Given the description of an element on the screen output the (x, y) to click on. 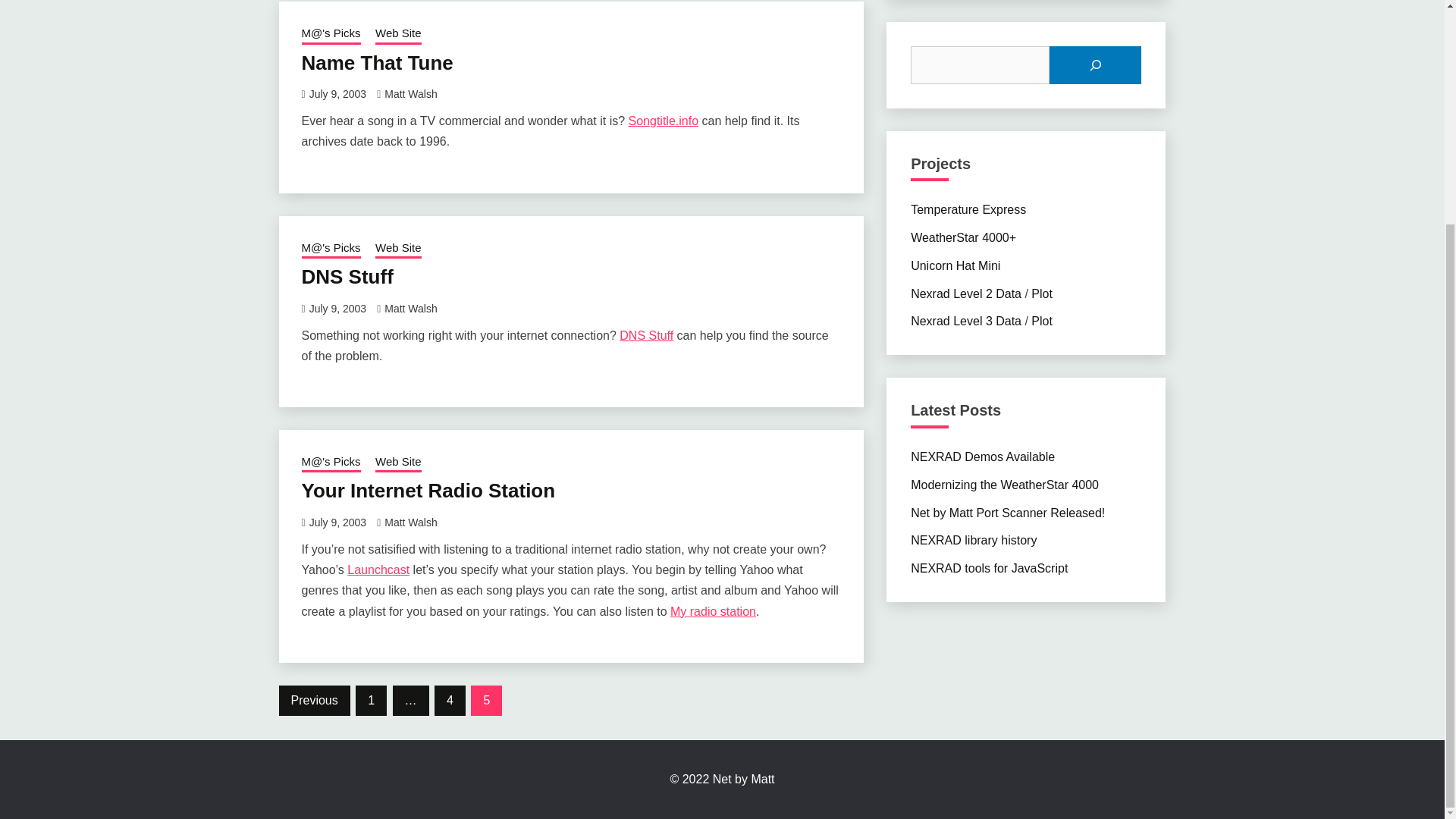
Matt Walsh (411, 308)
Your Internet Radio Station (428, 490)
July 9, 2003 (337, 308)
DNS Stuff (646, 335)
Previous (314, 700)
Web Site (398, 35)
DNS Stuff (347, 276)
July 9, 2003 (337, 93)
Matt Walsh (411, 93)
Matt Walsh (411, 522)
